Given the description of an element on the screen output the (x, y) to click on. 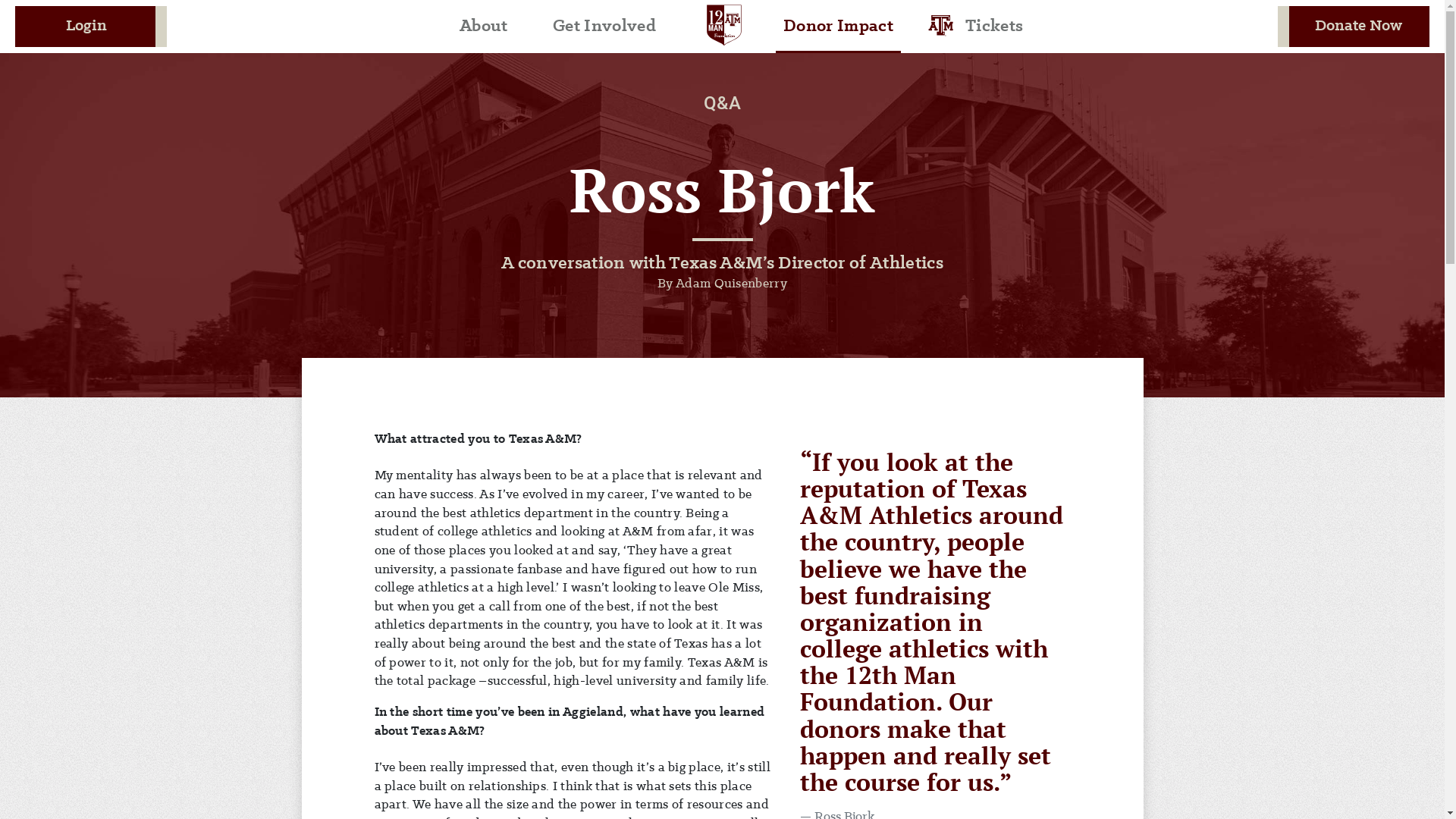
Tickets Element type: text (993, 26)
Get Involved Element type: text (604, 26)
Login Element type: text (90, 26)
About Element type: text (483, 26)
Donate Now Element type: text (1353, 26)
Donor Impact Element type: text (837, 26)
